Given the description of an element on the screen output the (x, y) to click on. 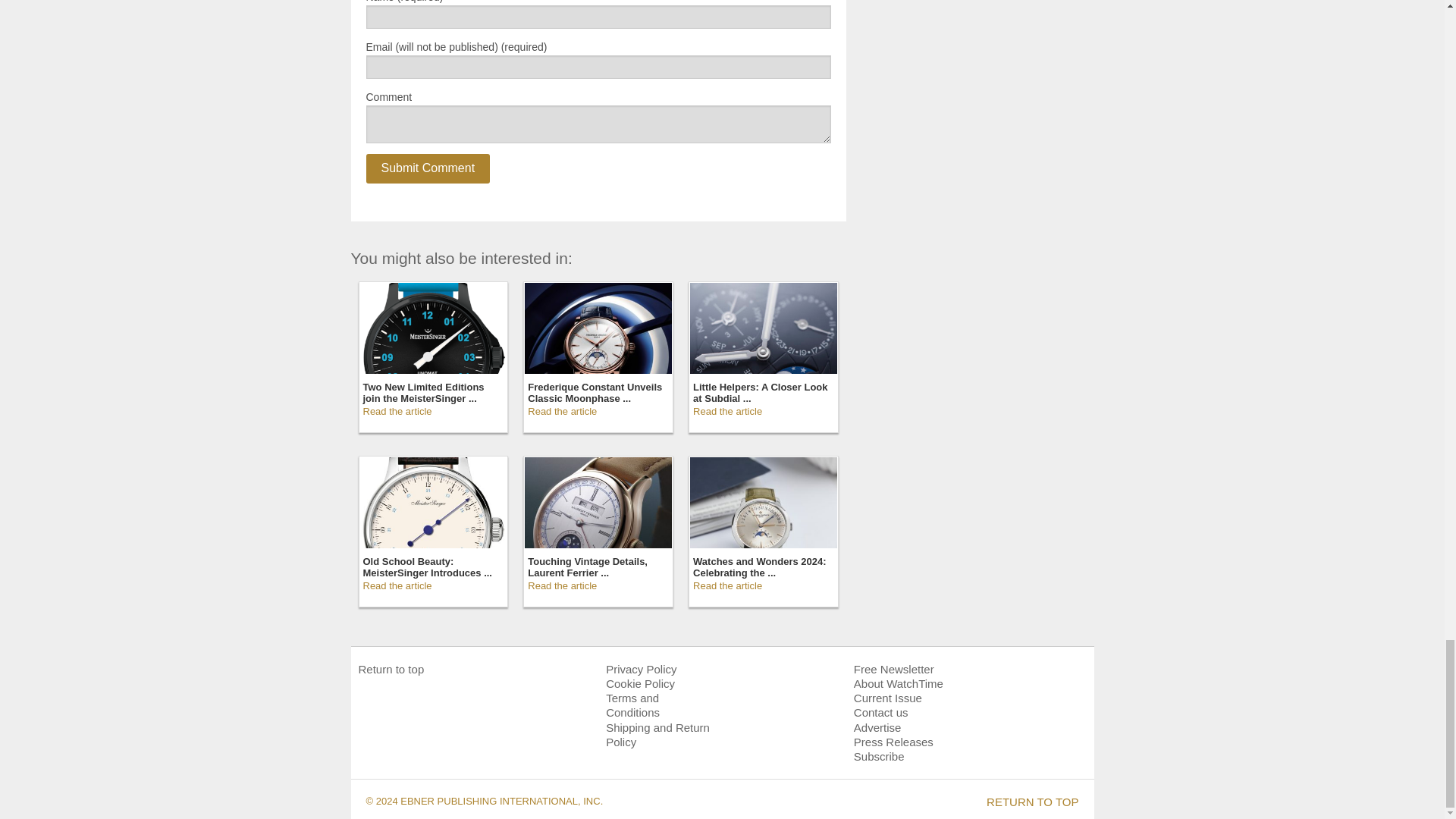
Submit Comment (427, 168)
